Given the description of an element on the screen output the (x, y) to click on. 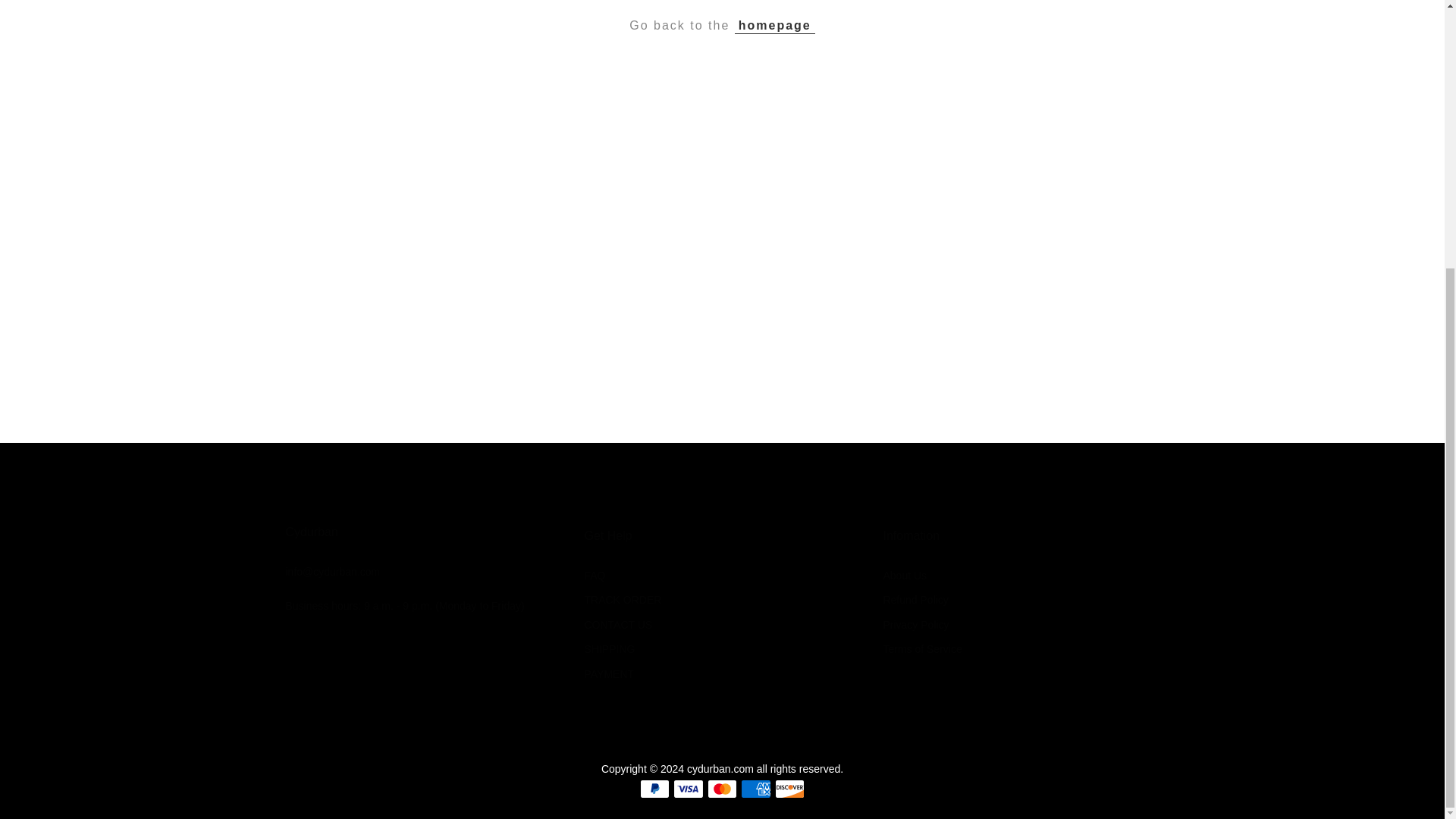
SHIPPING (608, 648)
FAQ (594, 575)
Refund Policy (914, 599)
homepage (775, 25)
TRACK ORDER (622, 599)
CONTACT US (617, 624)
About Us (904, 575)
Terms of Service (921, 648)
Privacy Policy (915, 624)
PAYMENT (608, 674)
